Given the description of an element on the screen output the (x, y) to click on. 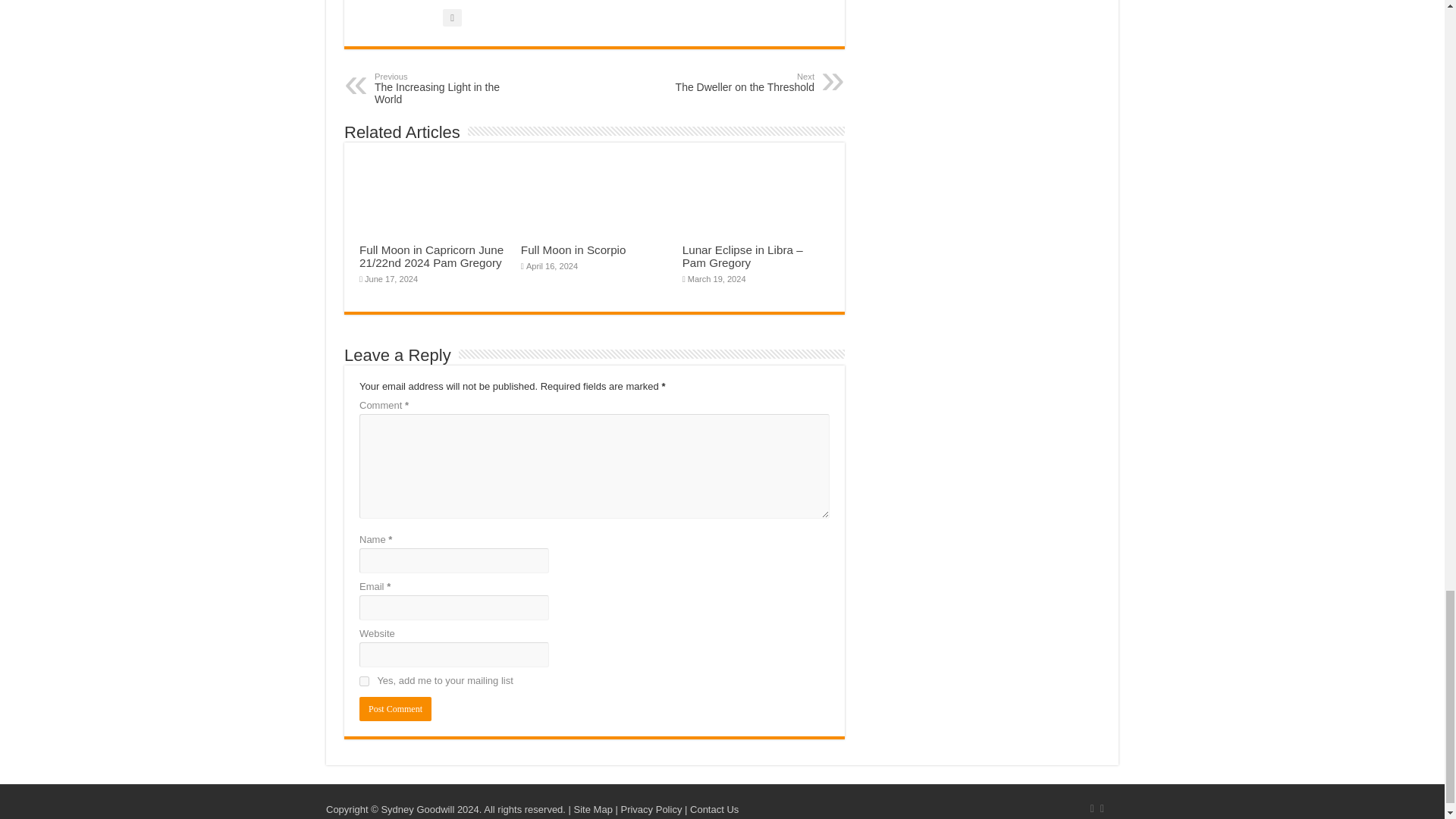
1 (364, 681)
Post Comment (394, 708)
